Given the description of an element on the screen output the (x, y) to click on. 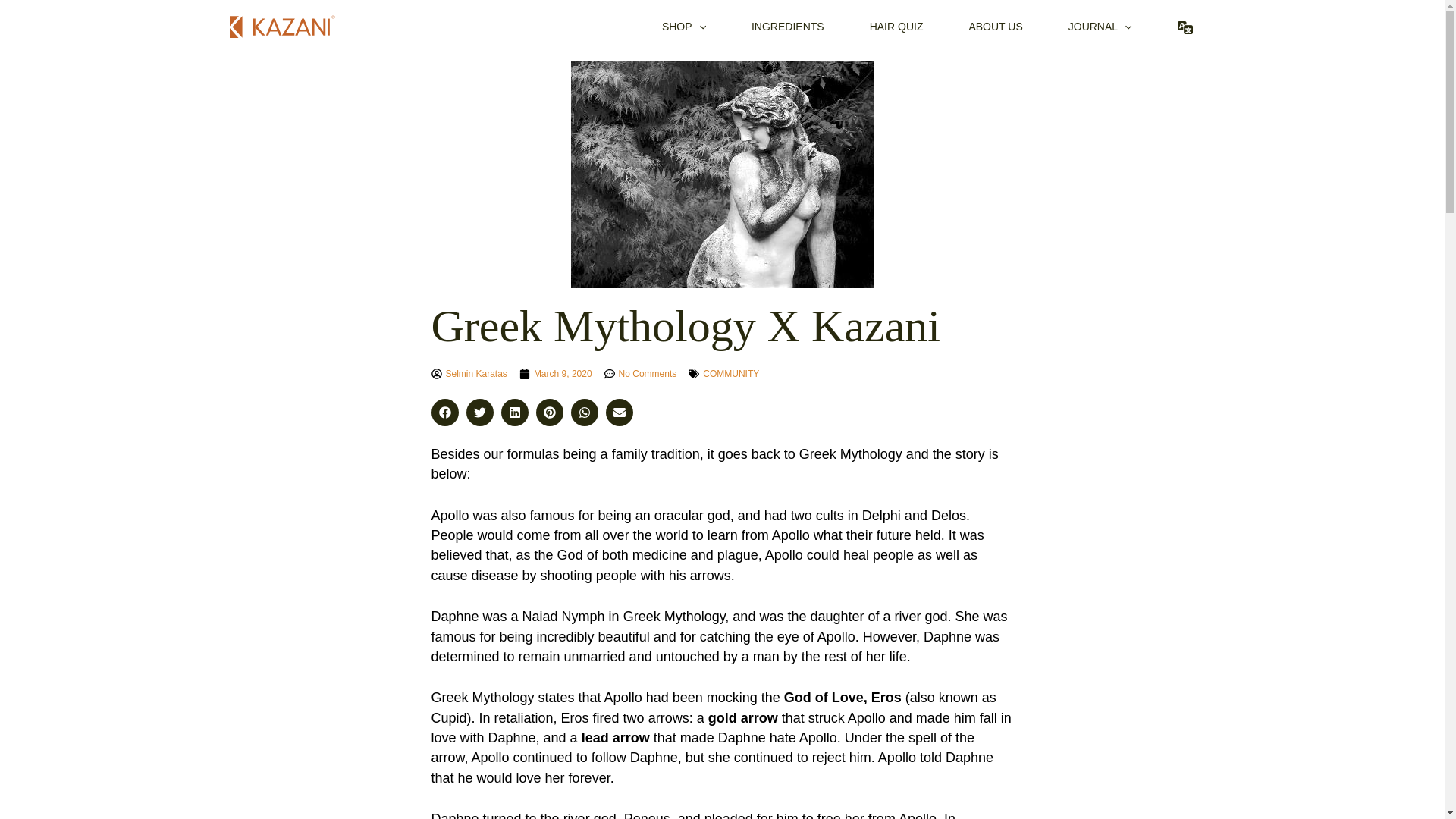
JOURNAL (1099, 26)
SHOP (684, 26)
HAIR QUIZ (896, 26)
INGREDIENTS (788, 26)
ABOUT US (994, 26)
